Given the description of an element on the screen output the (x, y) to click on. 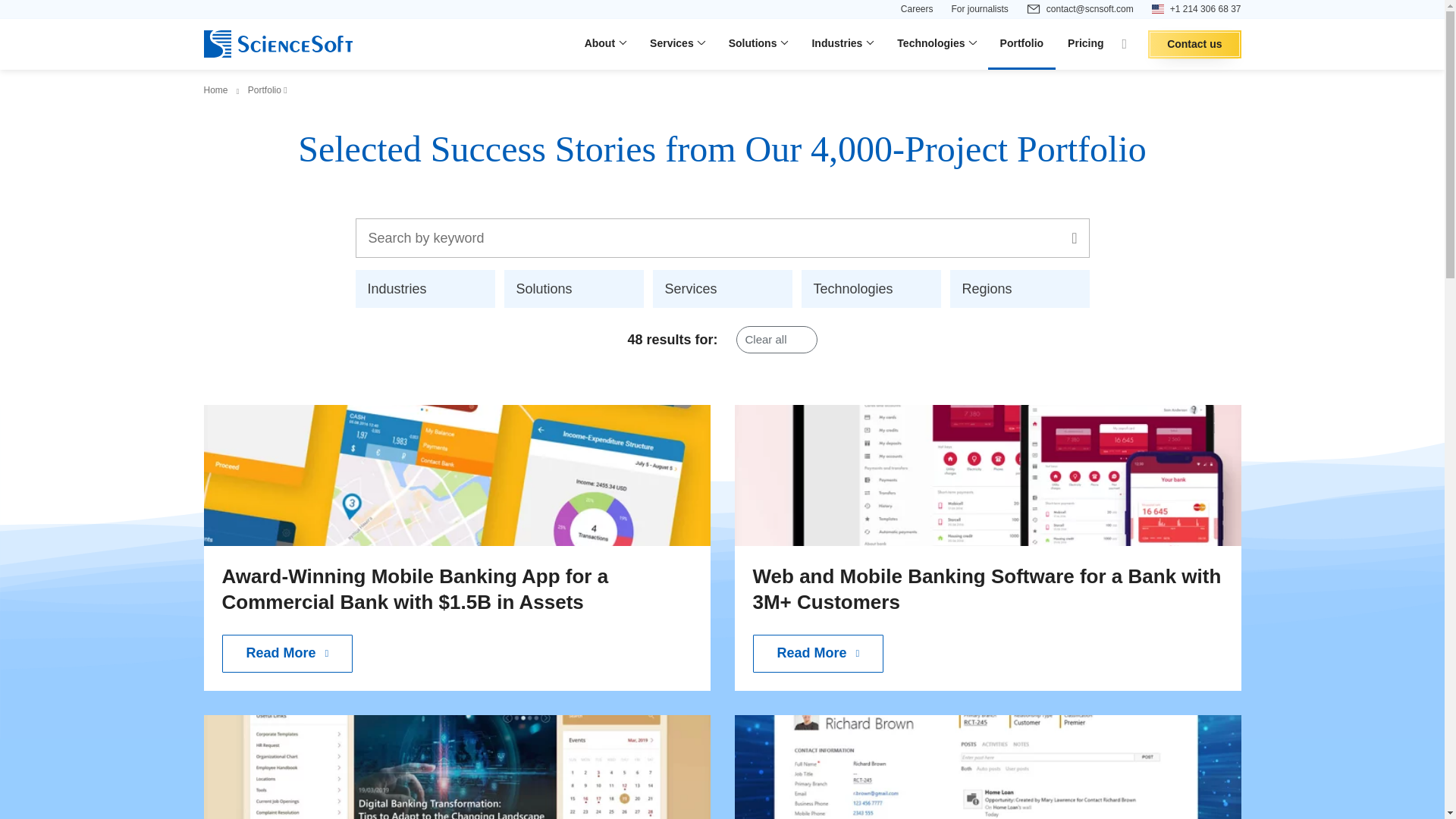
Careers (917, 8)
Home (215, 90)
For journalists (978, 8)
